Given the description of an element on the screen output the (x, y) to click on. 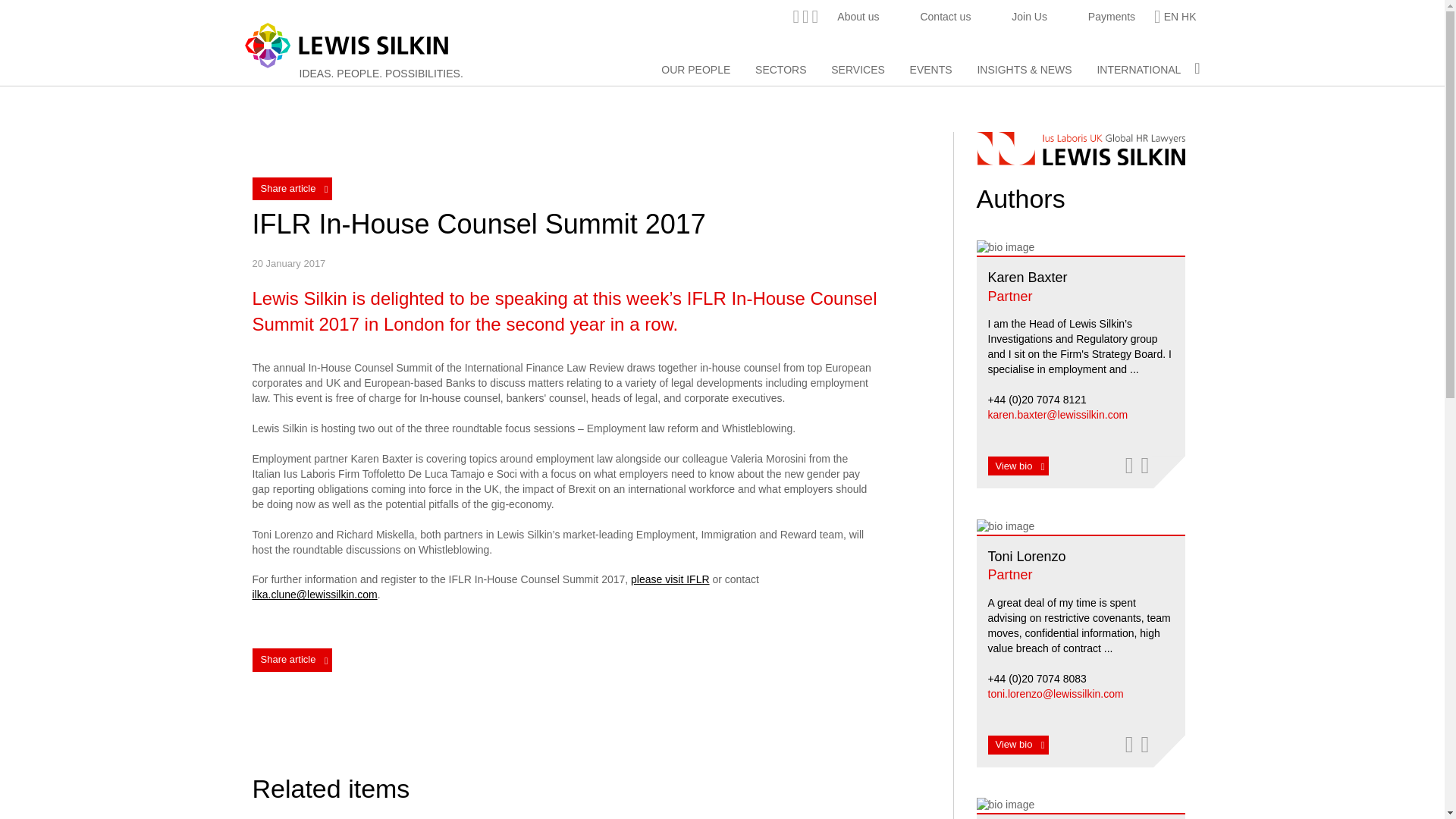
EN (1170, 16)
Payments (1111, 16)
Contact us (945, 16)
Join Us (1029, 16)
SERVICES (858, 69)
About us (857, 16)
IDEAS. PEOPLE. POSSIBILITIES. (380, 73)
SECTORS (780, 69)
HK (1187, 16)
OUR PEOPLE (695, 69)
